Given the description of an element on the screen output the (x, y) to click on. 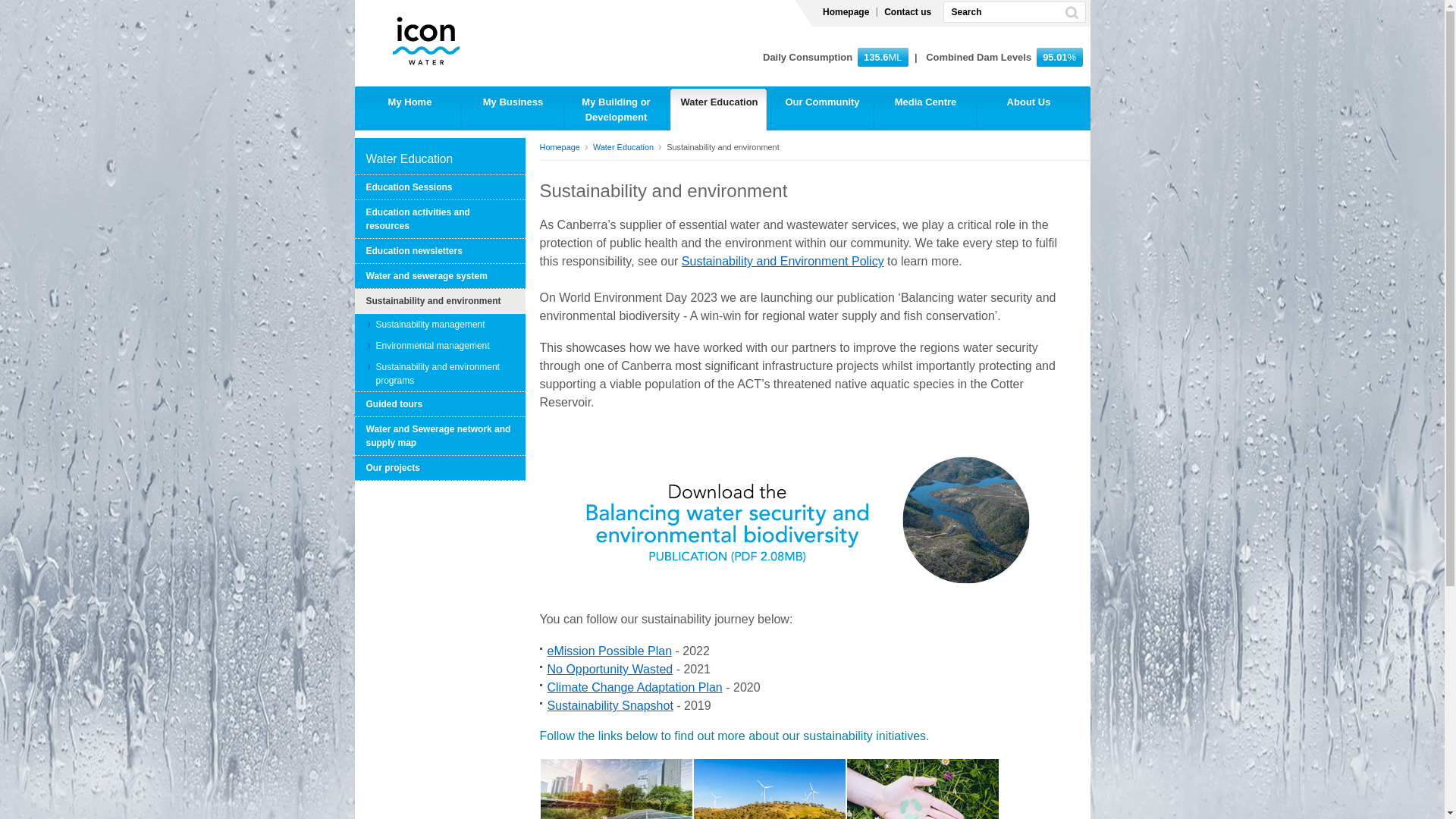
No Opportunity Wasted Element type: text (610, 668)
Homepage Element type: text (563, 146)
Environmental management Element type: text (439, 345)
Homepage Element type: text (845, 11)
Water and sewerage system Element type: text (439, 275)
Our Community Element type: text (821, 109)
Sustainability and environment Element type: text (439, 300)
Education activities and resources Element type: text (439, 219)
Our projects Element type: text (439, 467)
My Business Element type: text (512, 109)
Contact us Element type: text (907, 11)
Education newsletters Element type: text (439, 250)
My Building or Development Element type: text (615, 109)
Water Education Element type: text (627, 146)
Sustainability and environment programs Element type: text (439, 373)
Sustainability Snapshot Element type: text (610, 705)
My Home Element type: text (406, 109)
Education Sessions Element type: text (439, 187)
Water and Sewerage network and supply map Element type: text (439, 436)
About Us Element type: text (1027, 109)
Sustainability and Environment Policy Element type: text (782, 260)
Climate Change Adaptation Plan Element type: text (634, 686)
eMission Possible Plan Element type: text (609, 650)
Water Education Element type: text (718, 109)
Sustainability management Element type: text (439, 324)
Guided tours Element type: text (439, 404)
Media Centre Element type: text (924, 109)
